Given the description of an element on the screen output the (x, y) to click on. 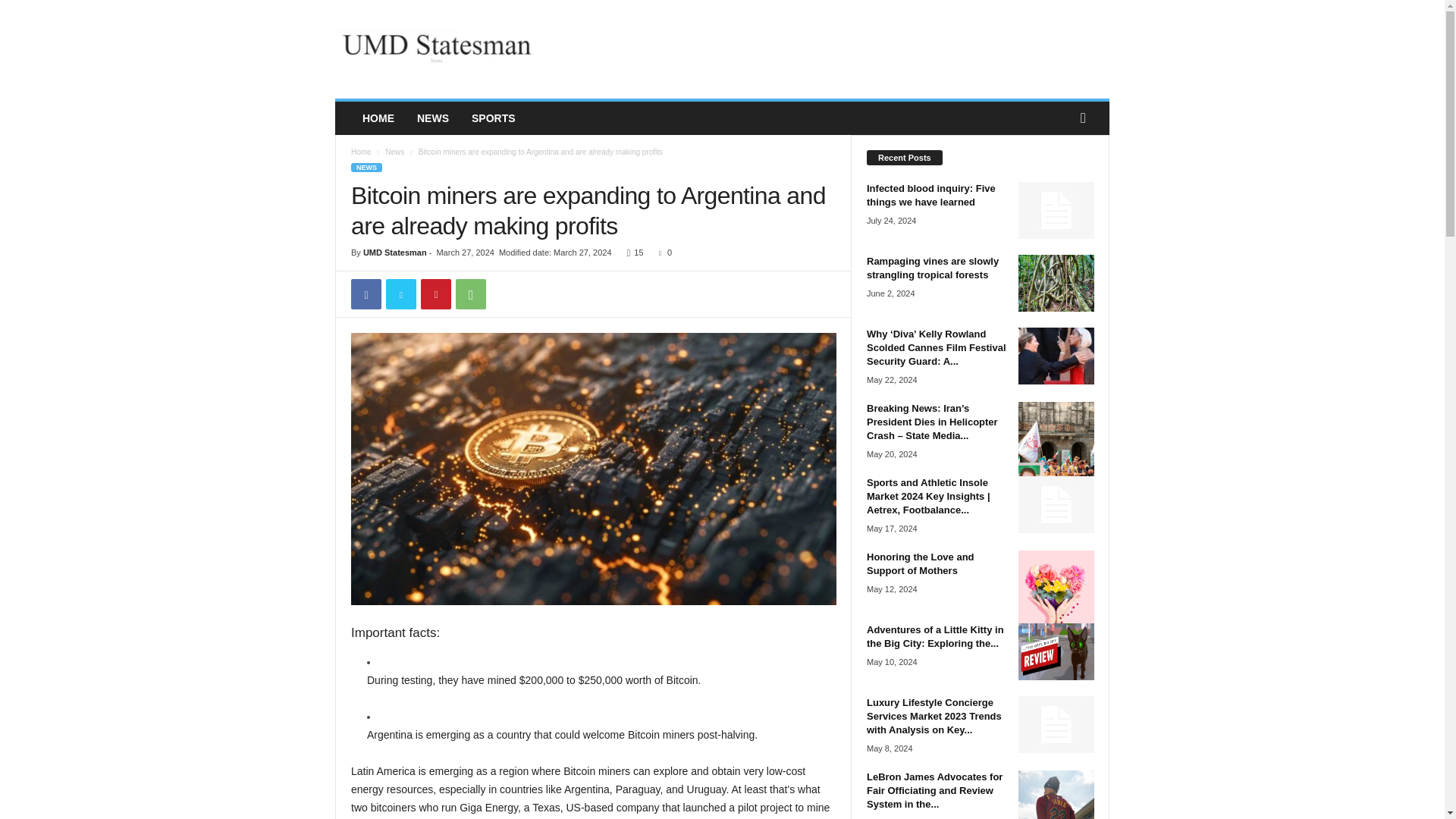
NEWS (433, 118)
UMD Statesman (394, 252)
Bitcoin-mineria-Argentina-Vaca-Muerta.jpg (592, 468)
Flip (505, 294)
NEWS (365, 166)
Home (360, 152)
WhatsApp (470, 294)
Twitter (400, 294)
0 (661, 252)
HOME (378, 118)
UMD Statesman (437, 48)
View all posts in News (394, 152)
SPORTS (493, 118)
News (394, 152)
Pinterest (435, 294)
